Given the description of an element on the screen output the (x, y) to click on. 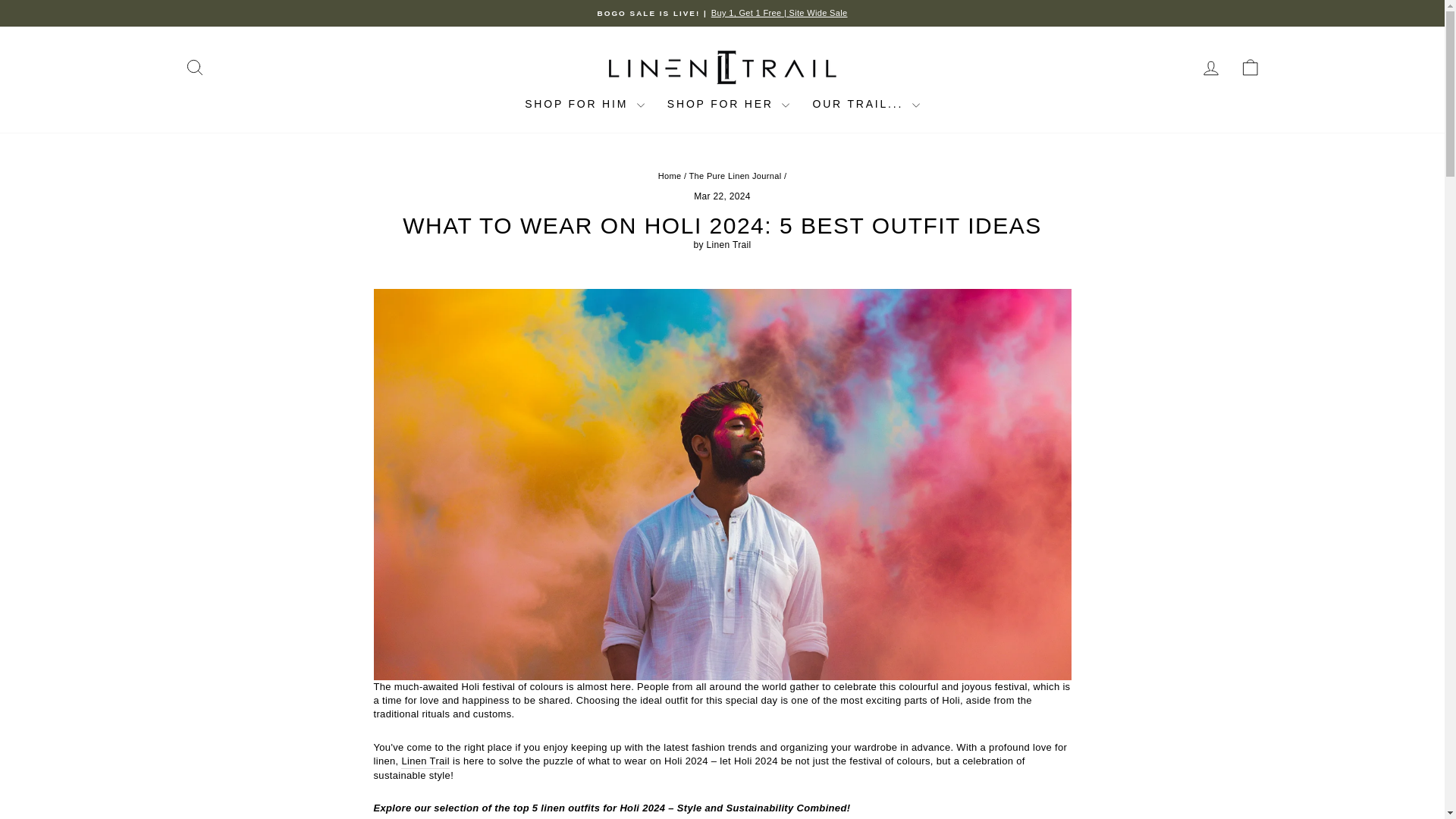
ICON-BAG-MINIMAL (1249, 66)
Back to the frontpage (669, 175)
ICON-SEARCH (194, 66)
ACCOUNT (1210, 67)
